Given the description of an element on the screen output the (x, y) to click on. 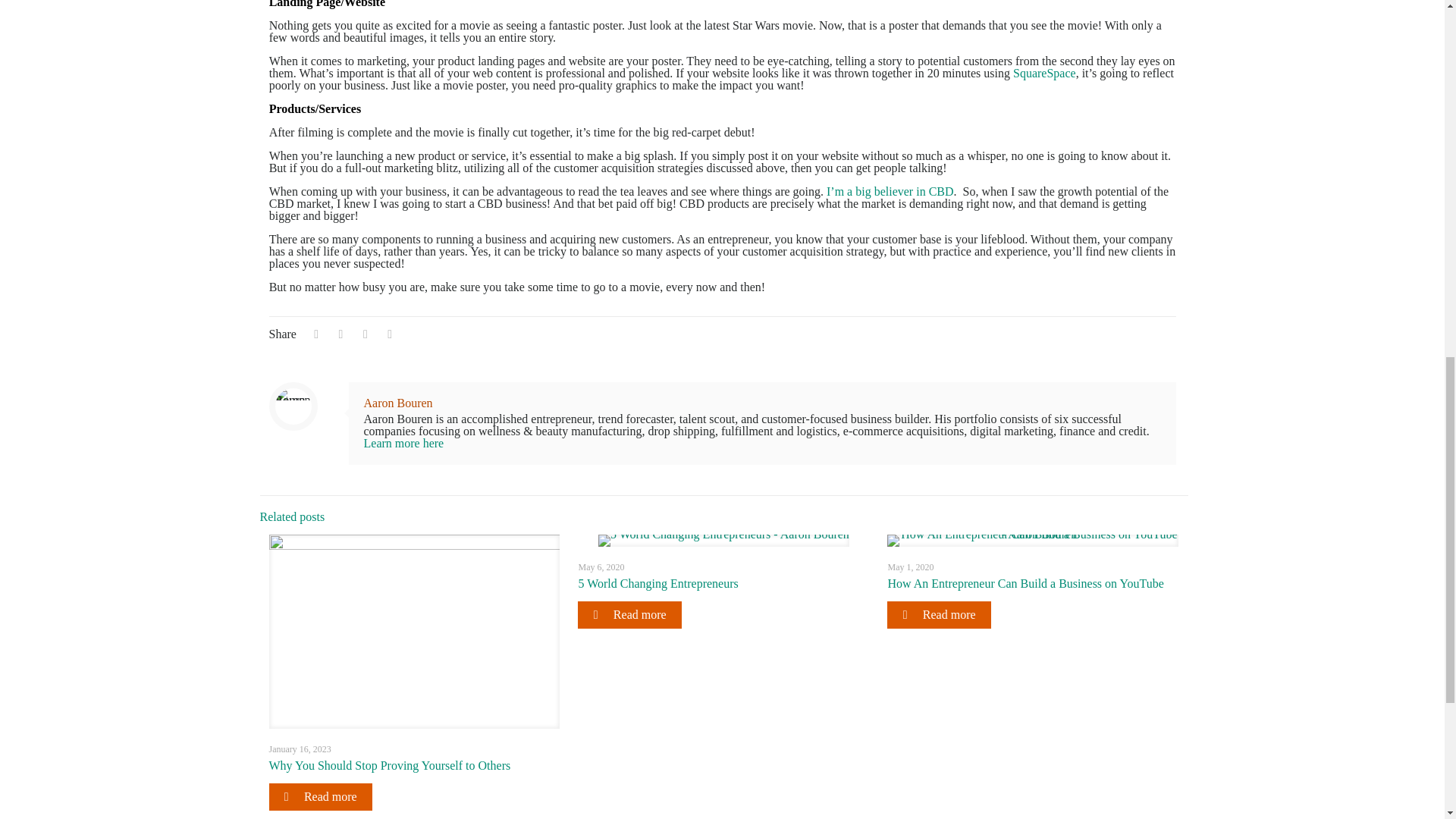
5 World Changing Entrepreneurs (658, 583)
How An Entrepreneur Can Build a Business on YouTube (1024, 583)
Why You Should Stop Proving Yourself to Others (389, 765)
Learn more here (404, 442)
Read more (938, 614)
SquareSpace (1044, 72)
Read more (319, 796)
Aaron Bouren (398, 402)
Read more (629, 614)
